Given the description of an element on the screen output the (x, y) to click on. 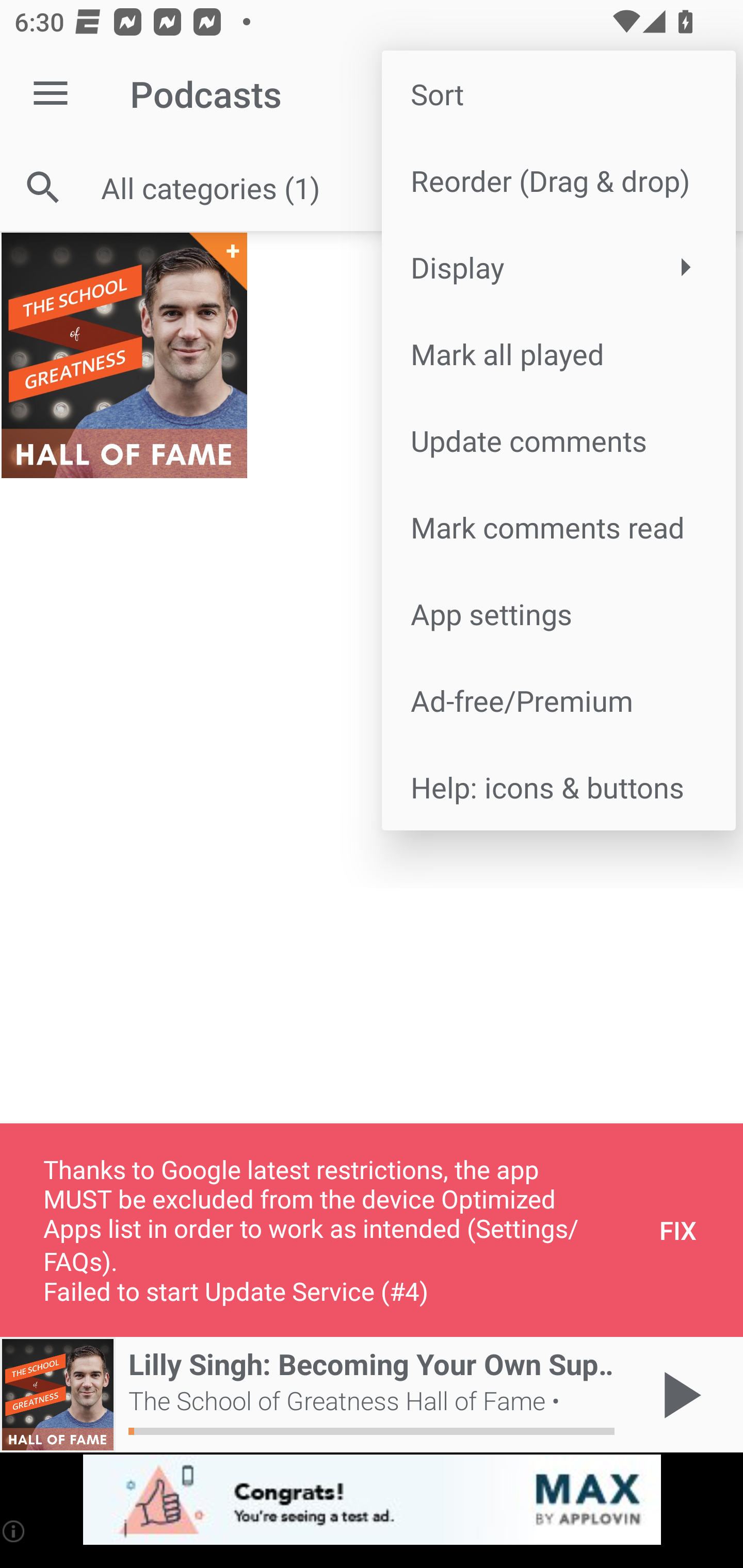
Sort (558, 93)
Reorder (Drag & drop) (558, 180)
Display (558, 267)
Mark all played (558, 353)
Update comments (558, 440)
Mark comments read (558, 527)
App settings (558, 613)
Ad-free/Premium (558, 699)
Help: icons & buttons (558, 787)
